Given the description of an element on the screen output the (x, y) to click on. 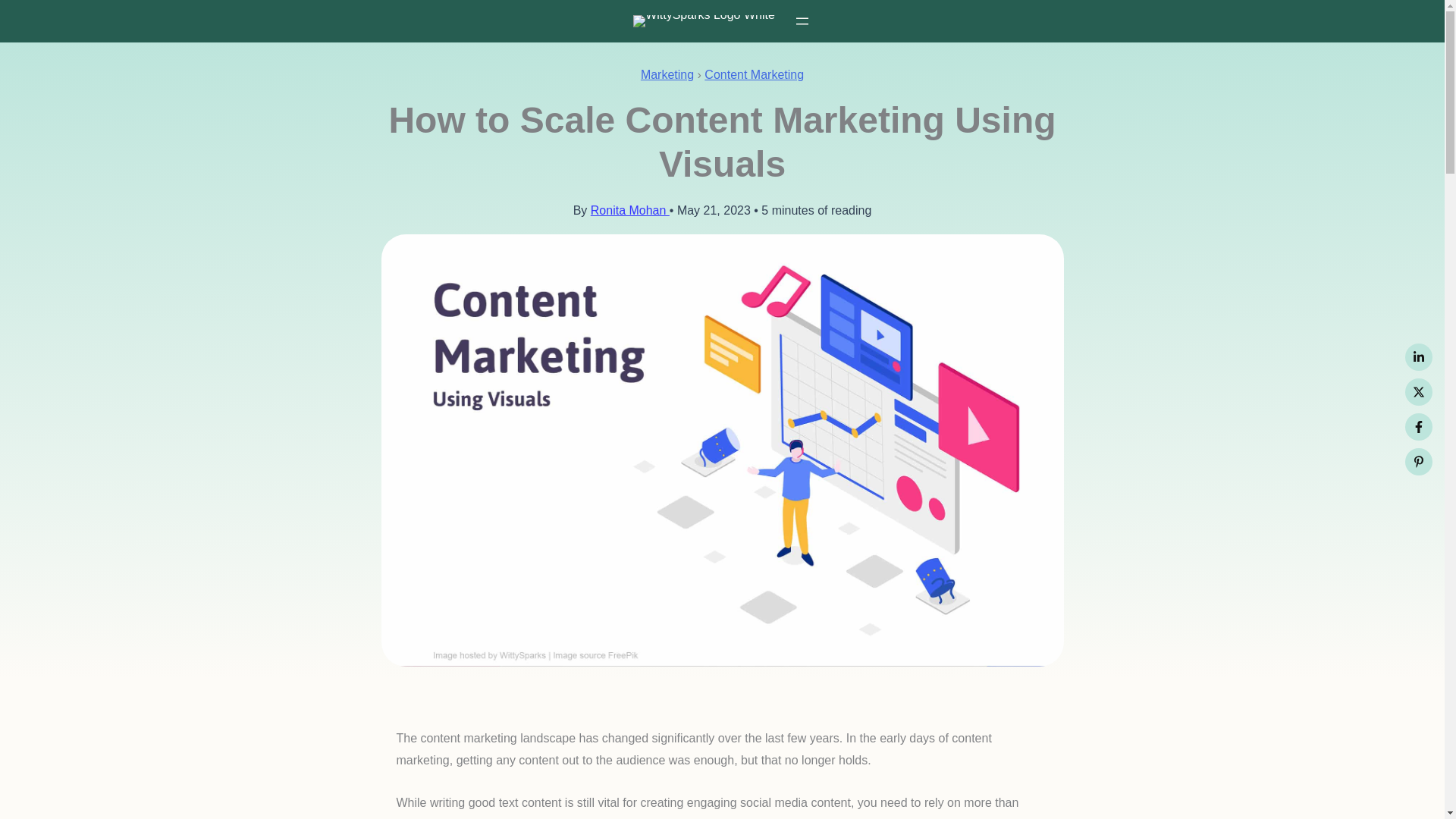
Marketing (667, 74)
View all posts by Ronita Mohan (630, 210)
Content Marketing (753, 74)
Ronita Mohan (630, 210)
